Given the description of an element on the screen output the (x, y) to click on. 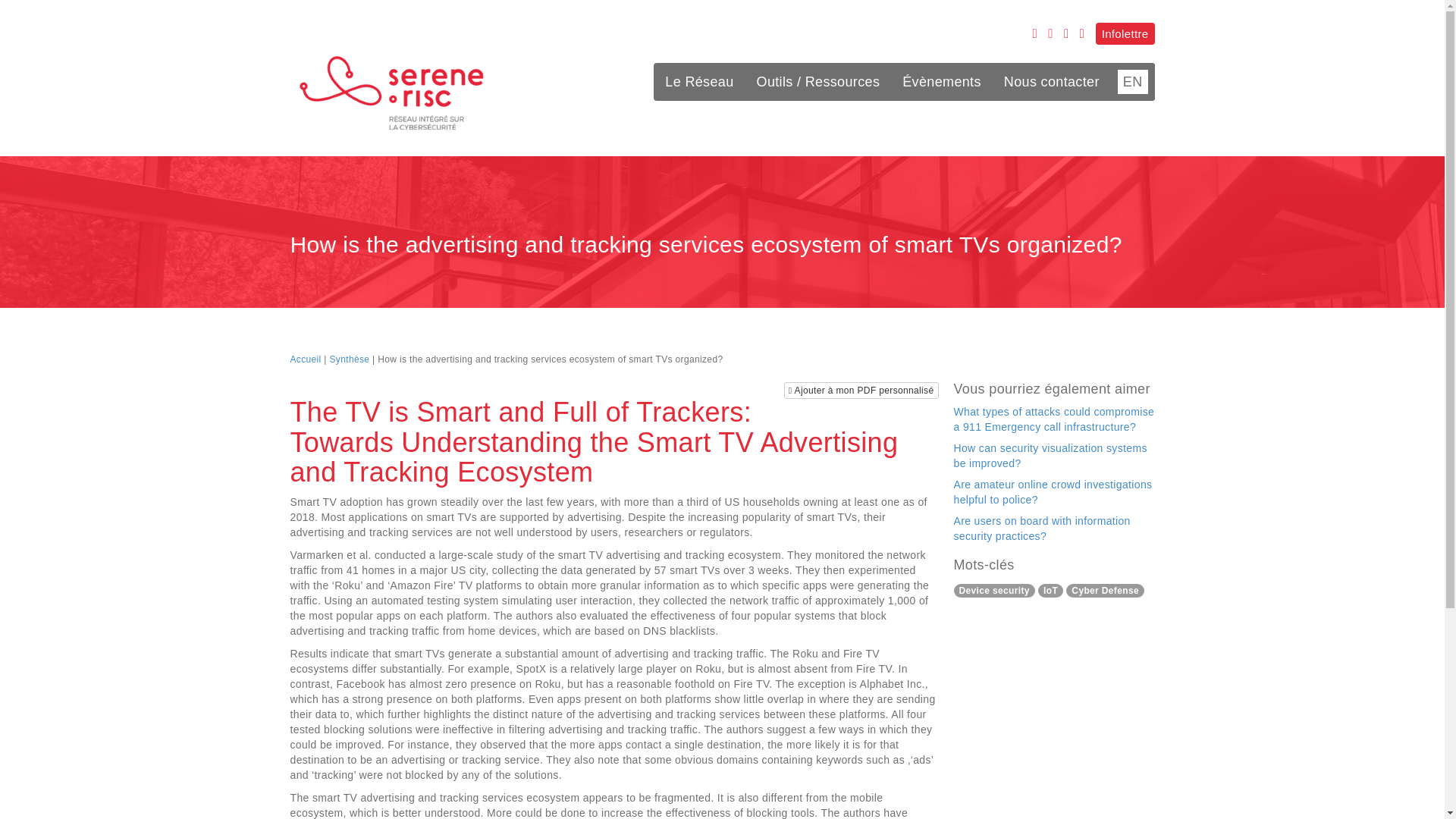
How can security visualization systems be improved? (1050, 455)
EN (1132, 81)
Infolettre (1125, 33)
Are users on board with information security practices? (1042, 528)
Nous contacter (1051, 81)
Accueil (304, 358)
Are amateur online crowd investigations helpful to police? (1053, 492)
